Given the description of an element on the screen output the (x, y) to click on. 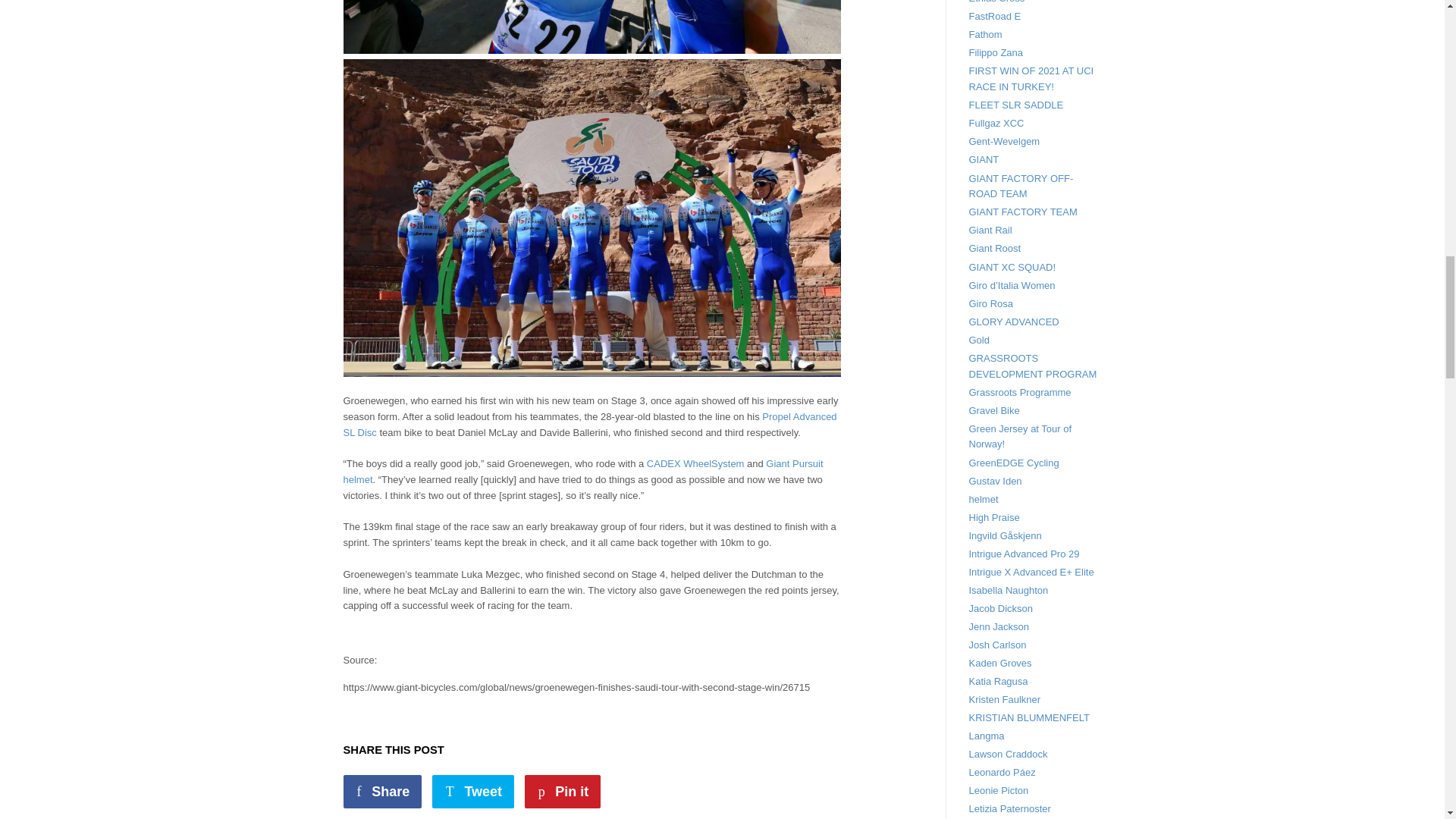
Tweet on Twitter (472, 791)
Pin on Pinterest (562, 791)
Share on Facebook (382, 791)
